Given the description of an element on the screen output the (x, y) to click on. 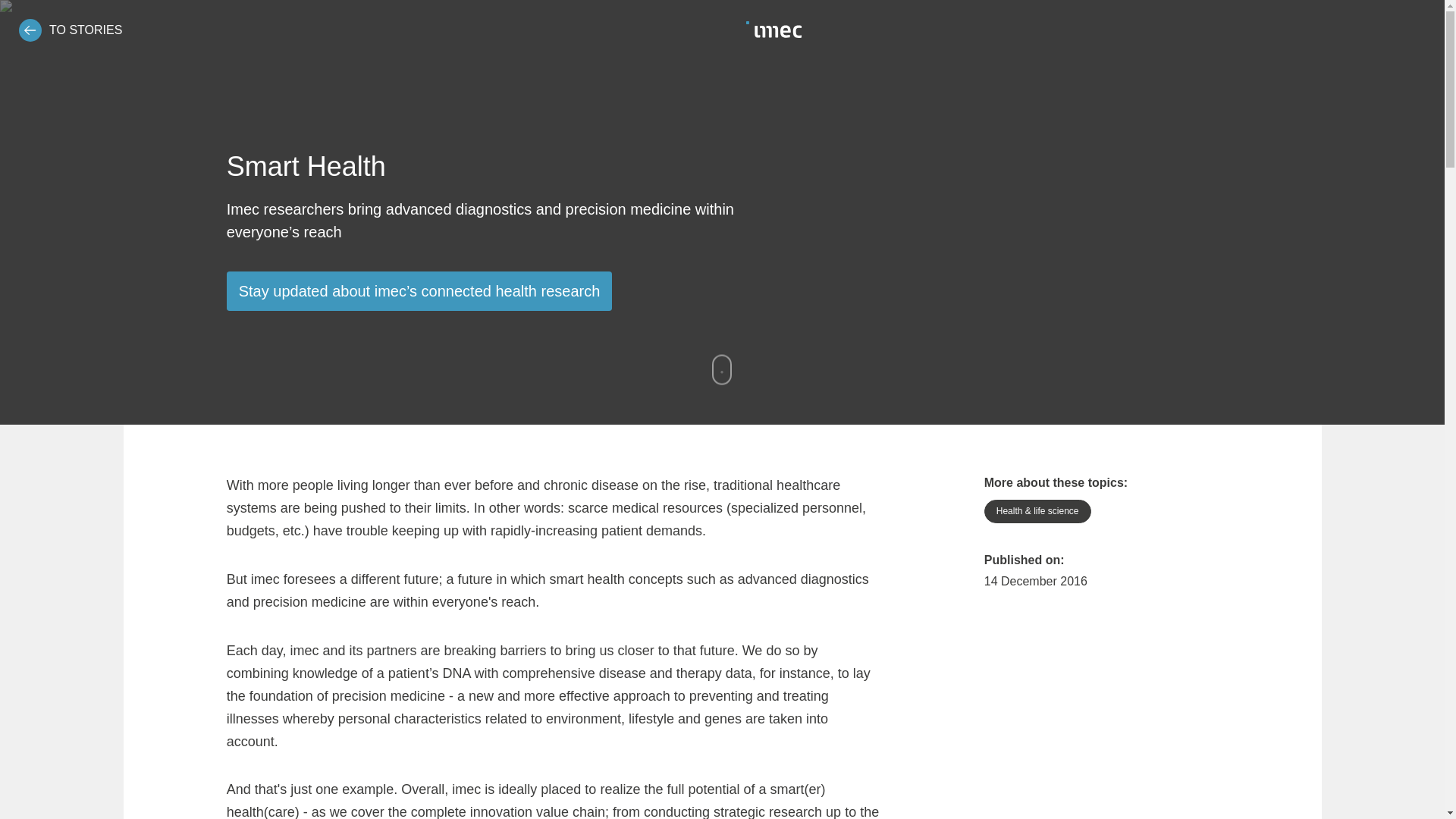
TO STORIES (70, 29)
